Given the description of an element on the screen output the (x, y) to click on. 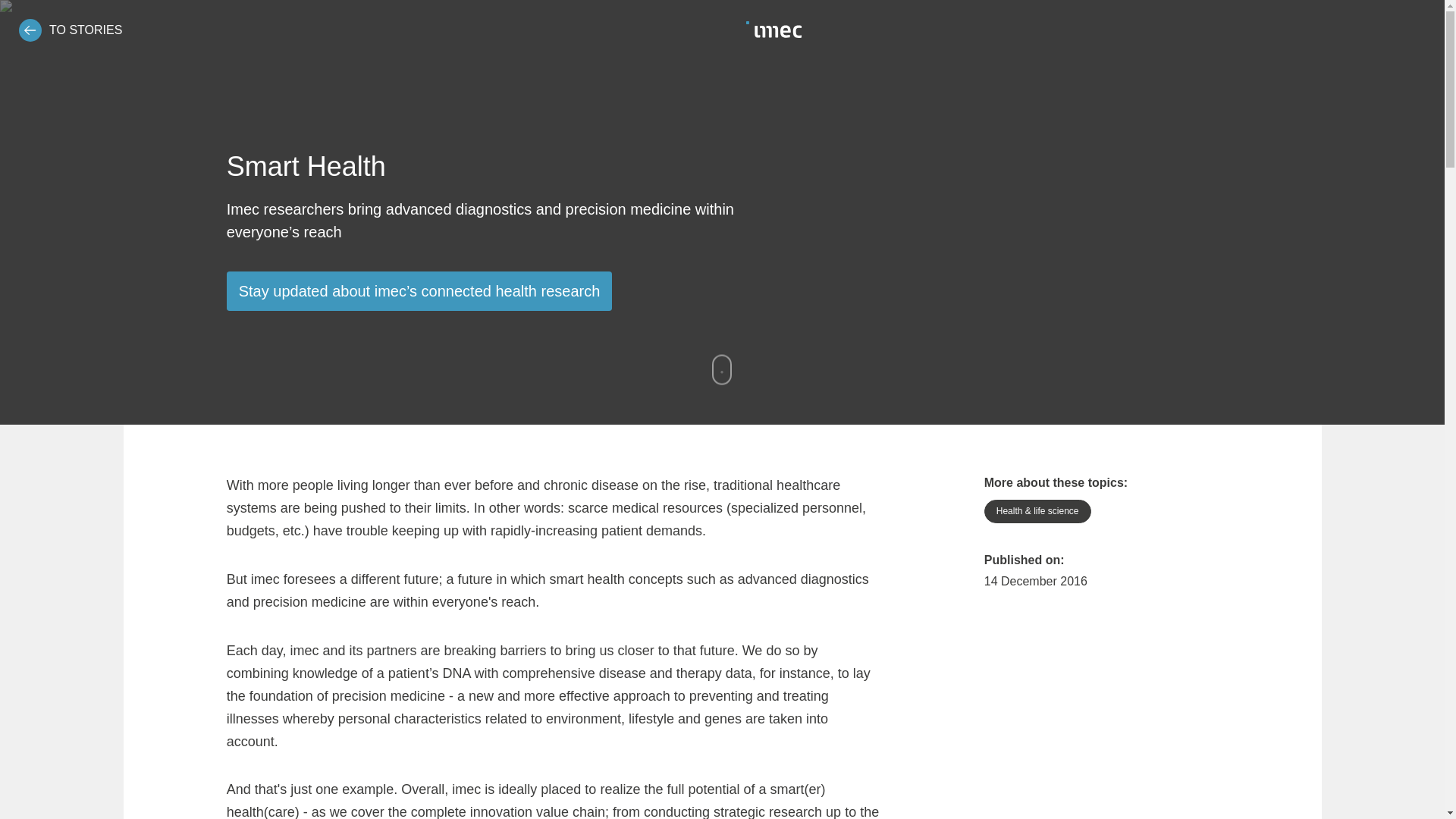
TO STORIES (70, 29)
